Given the description of an element on the screen output the (x, y) to click on. 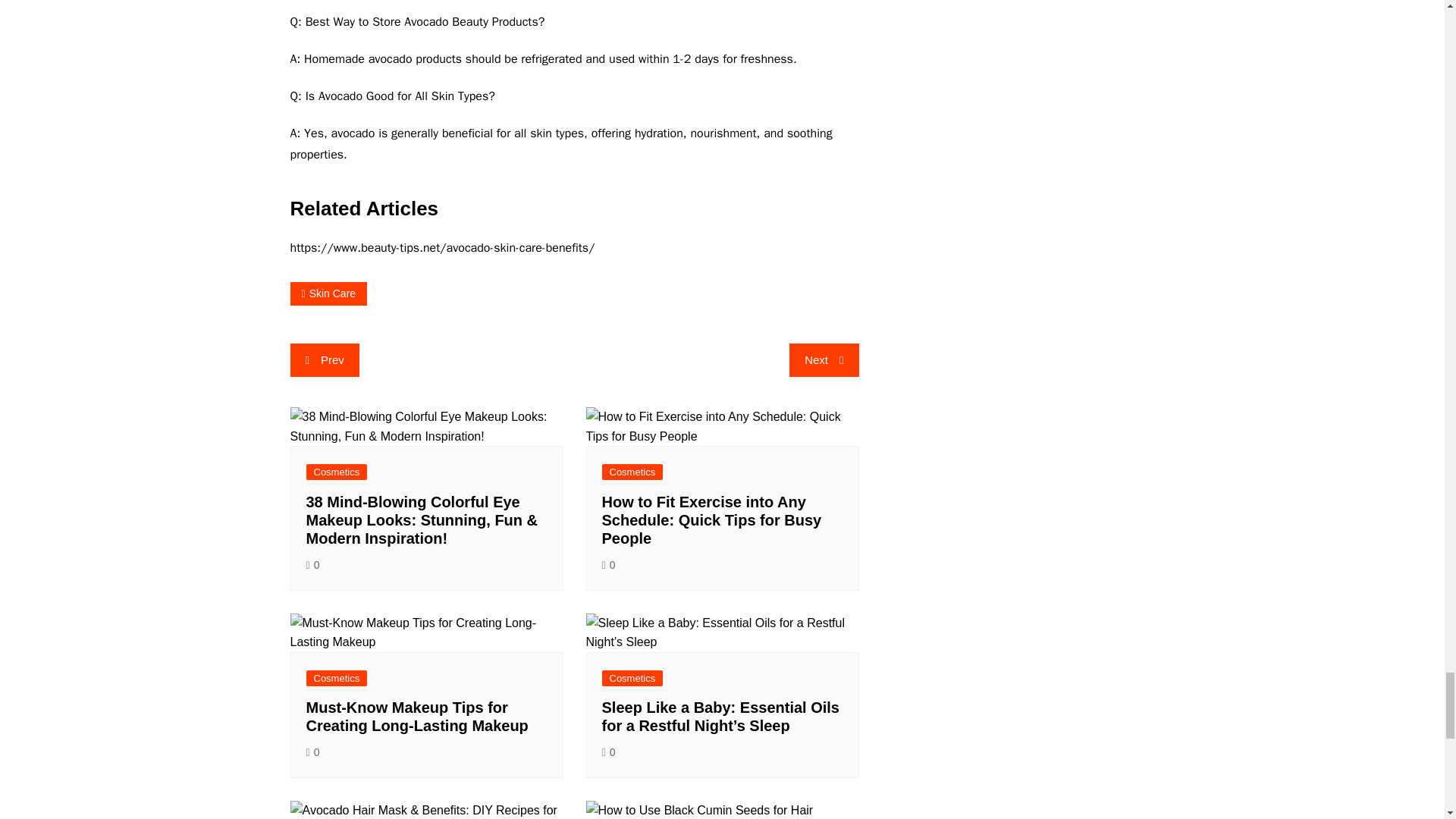
Cosmetics (336, 678)
Prev (323, 359)
Cosmetics (632, 471)
Skin Care (327, 293)
Cosmetics (336, 471)
Must-Know Makeup Tips for Creating Long-Lasting Makeup (416, 716)
Next (824, 359)
Cosmetics (632, 678)
